Given the description of an element on the screen output the (x, y) to click on. 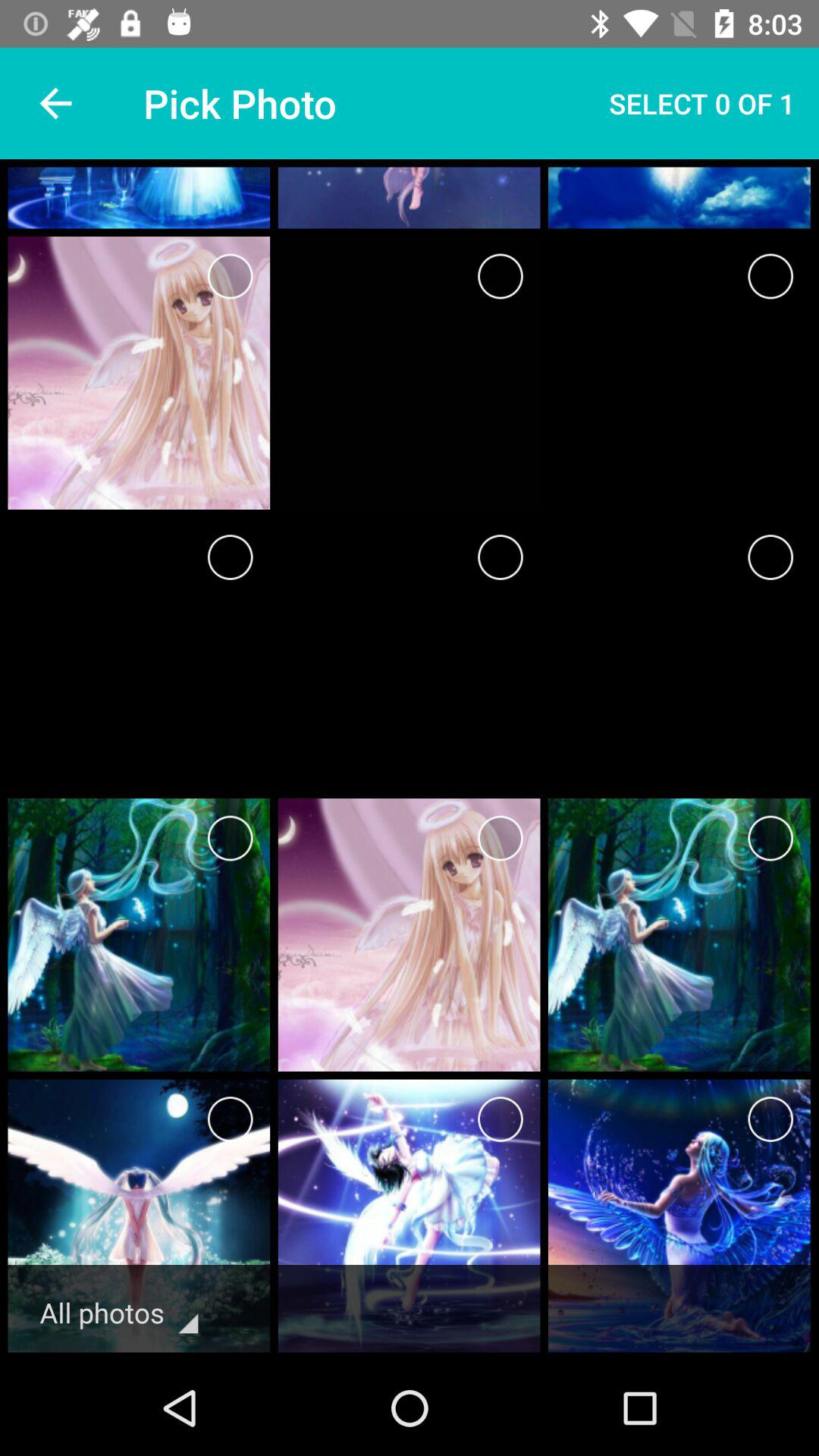
select image (770, 838)
